Given the description of an element on the screen output the (x, y) to click on. 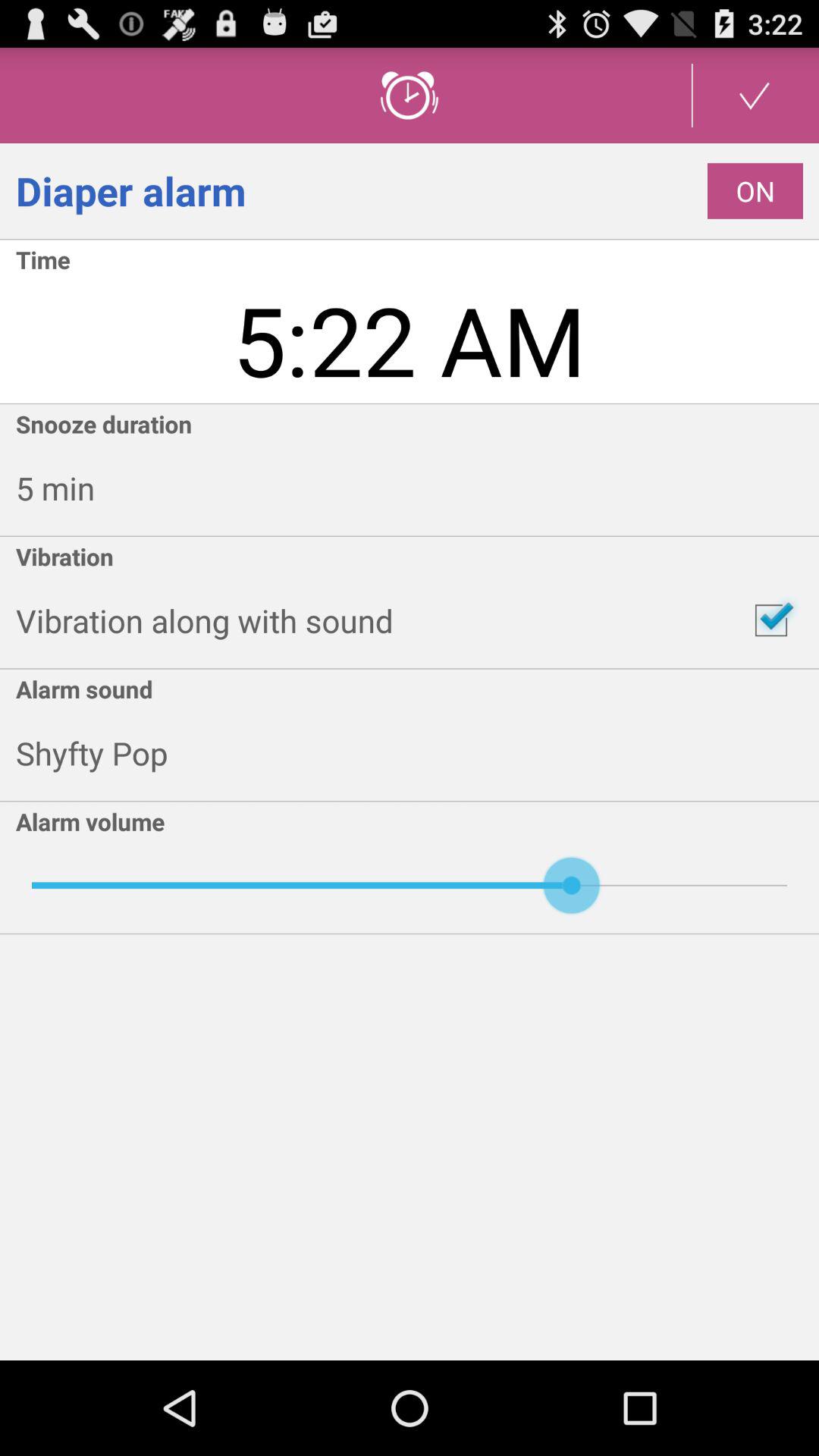
open the on (755, 190)
